Given the description of an element on the screen output the (x, y) to click on. 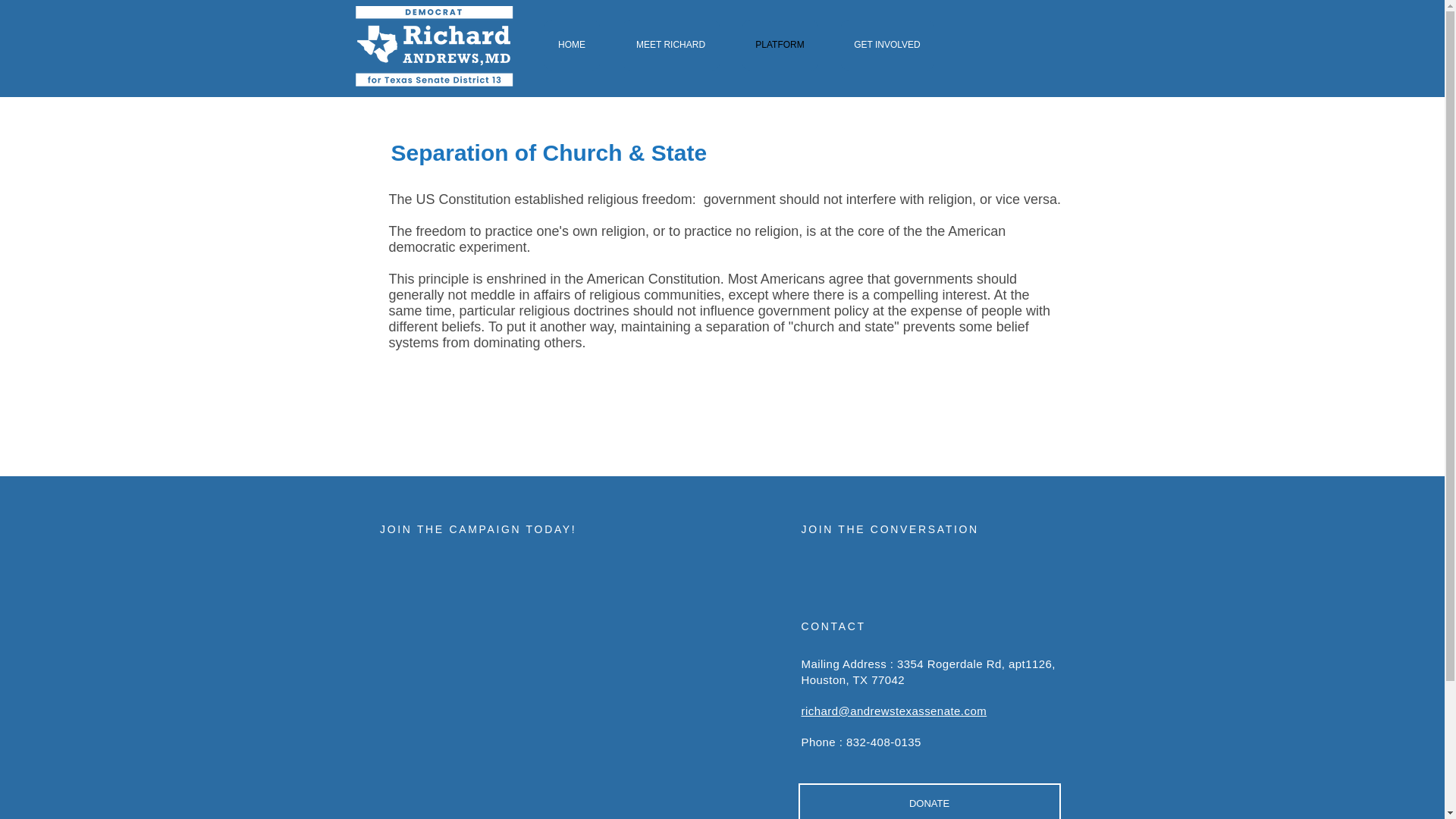
MEET RICHARD (670, 44)
DONATE (928, 800)
PLATFORM (778, 44)
GET INVOLVED (886, 44)
HOME (571, 44)
832-408-0135 (883, 741)
